Given the description of an element on the screen output the (x, y) to click on. 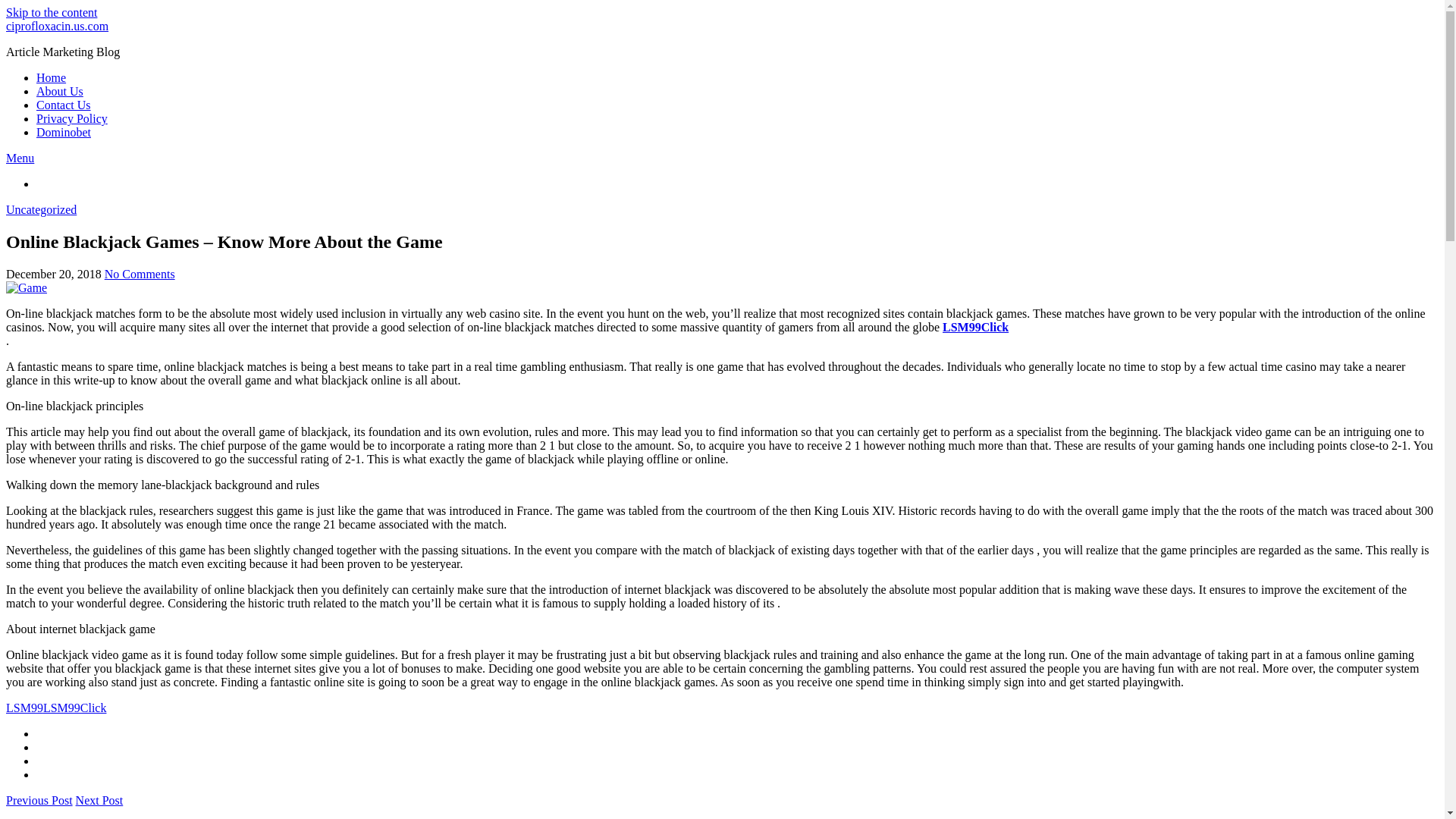
Skip to the content (51, 11)
No Comments (139, 273)
LSM99Click (975, 327)
Dominobet (63, 132)
Next Post (99, 799)
Uncategorized (41, 209)
LSM99Click (74, 707)
Contact Us (63, 104)
Home (50, 77)
Menu (19, 157)
